Given the description of an element on the screen output the (x, y) to click on. 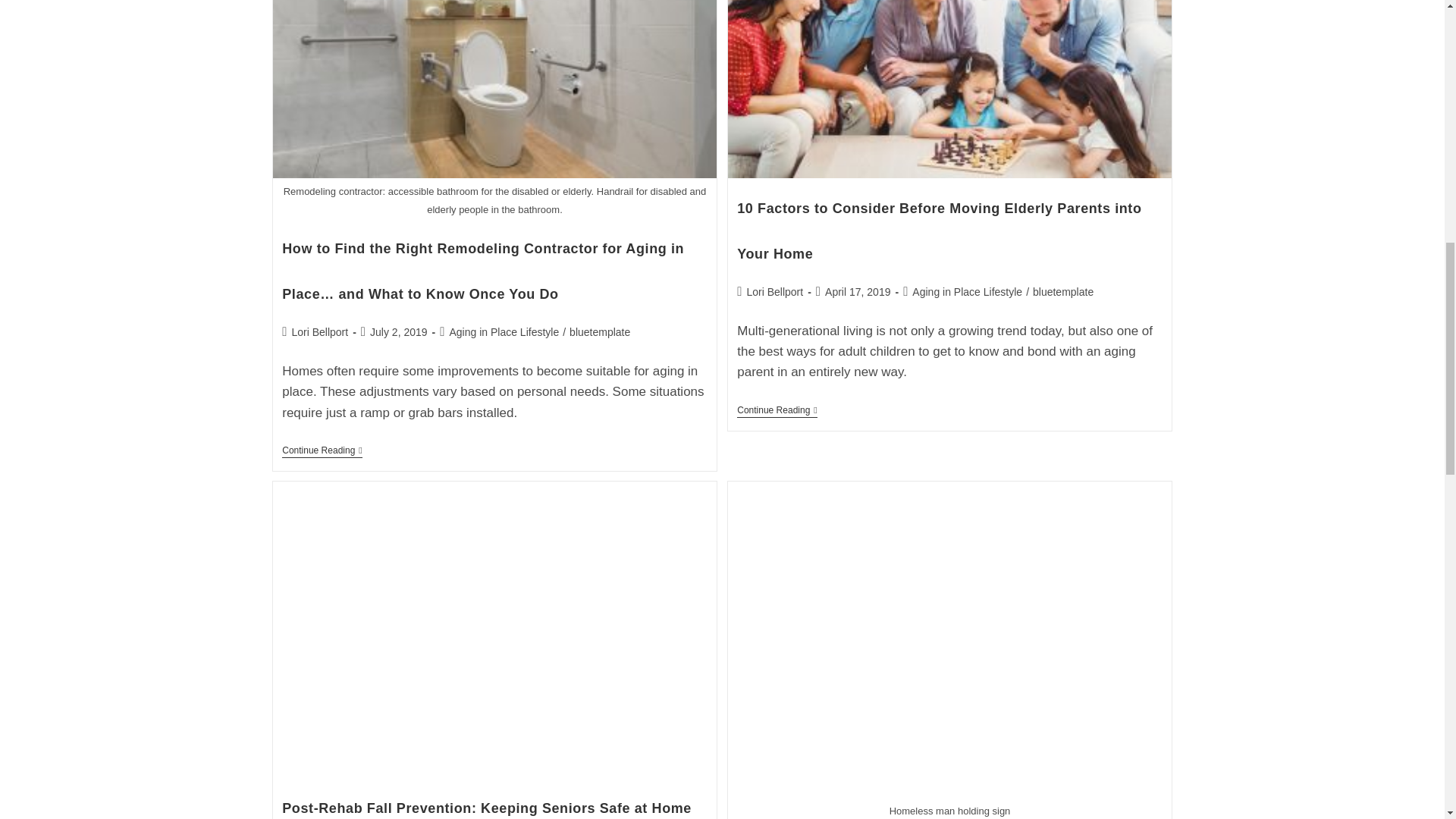
Posts by Lori Bellport (774, 291)
Posts by Lori Bellport (319, 331)
